Given the description of an element on the screen output the (x, y) to click on. 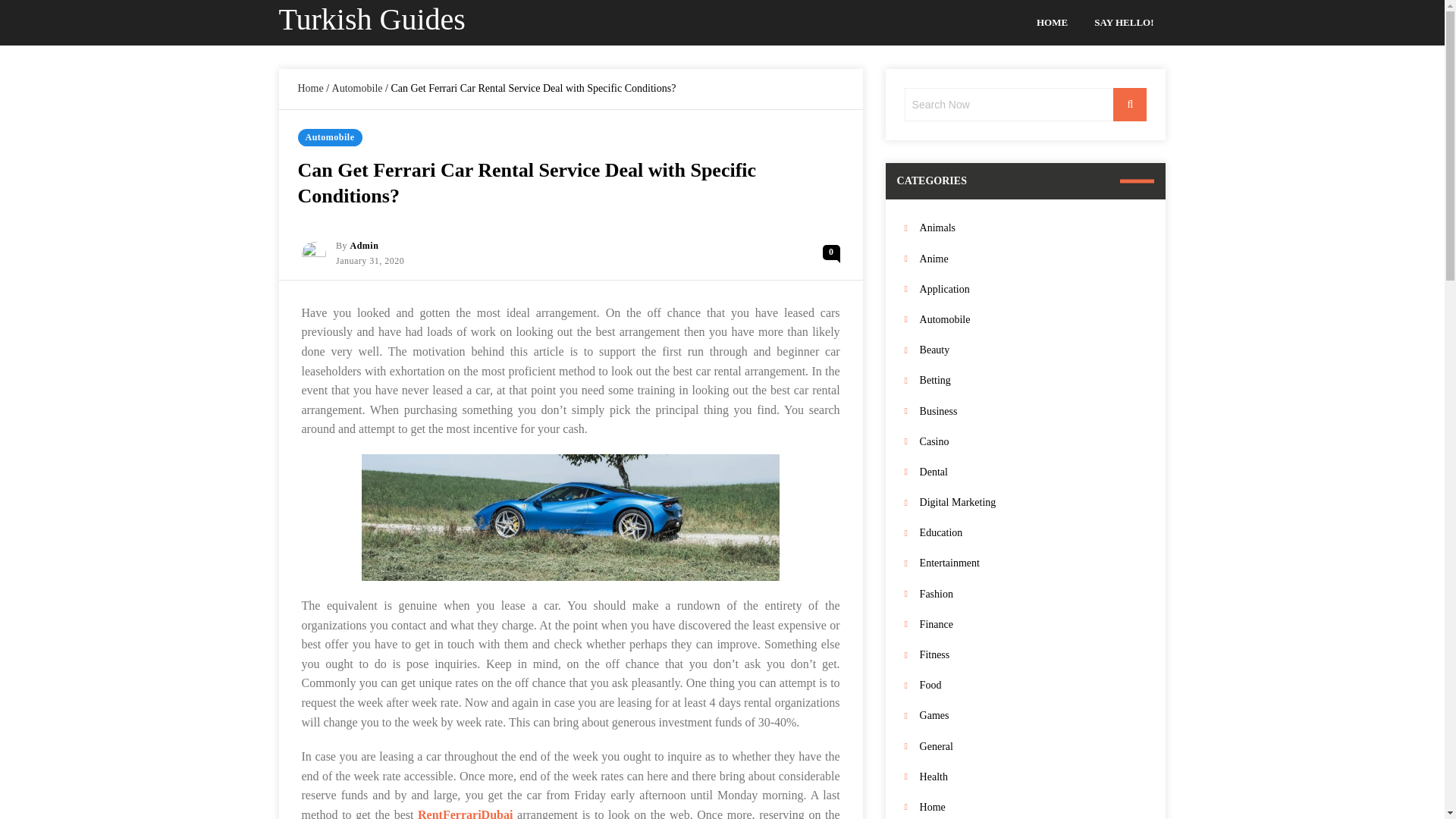
January 31, 2020 (370, 260)
Turkish Guides (372, 19)
Posts by admin (364, 245)
Automobile (329, 137)
Automobile (356, 88)
Admin (364, 245)
Anime (1033, 258)
HOME (1051, 22)
Animals (1033, 227)
0 (831, 251)
Application (1033, 289)
RentFerrariDubai (464, 813)
SAY HELLO! (1123, 22)
Home (310, 88)
Search (1130, 104)
